Given the description of an element on the screen output the (x, y) to click on. 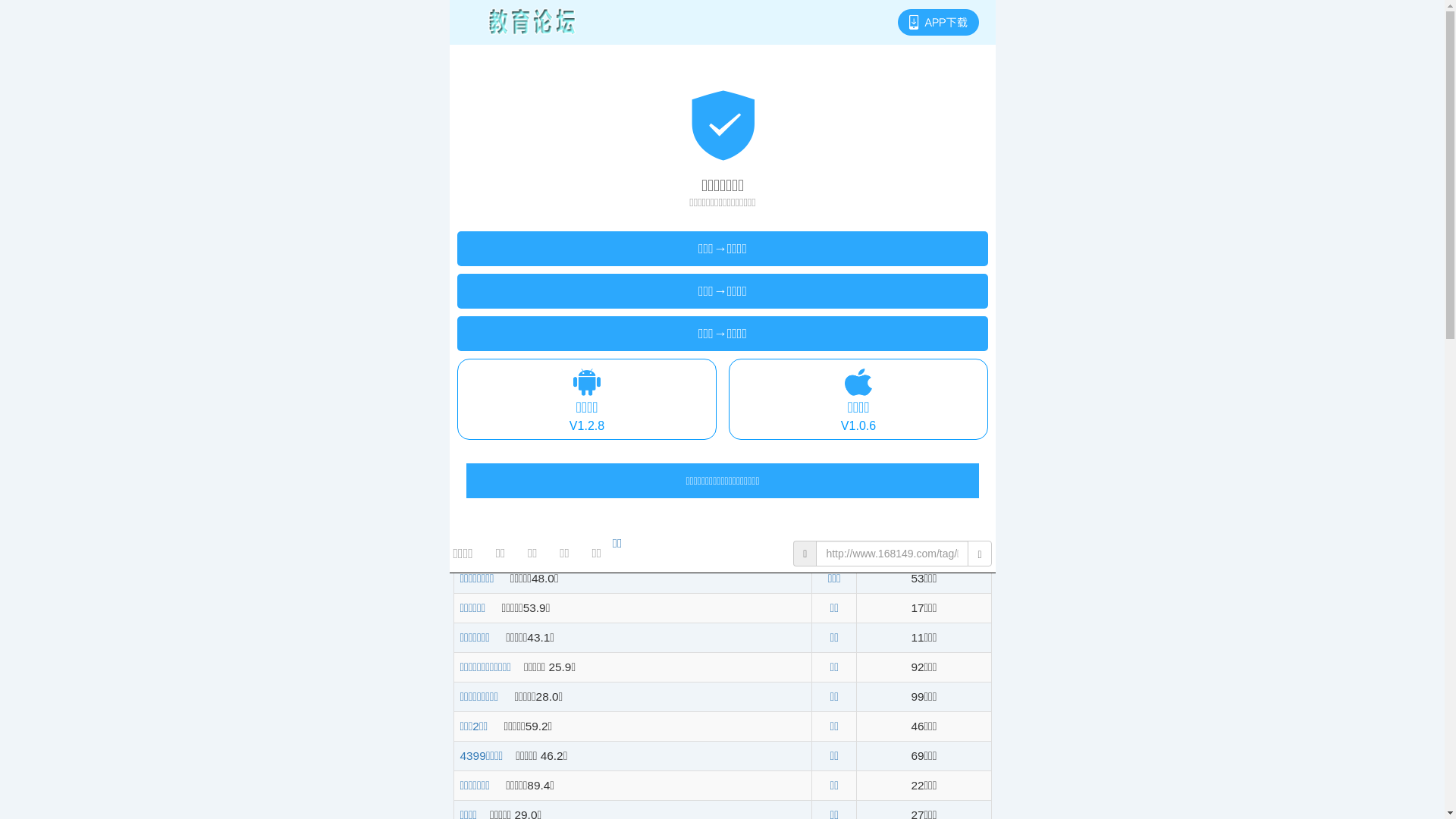
2023 Element type: text (599, 280)
